Given the description of an element on the screen output the (x, y) to click on. 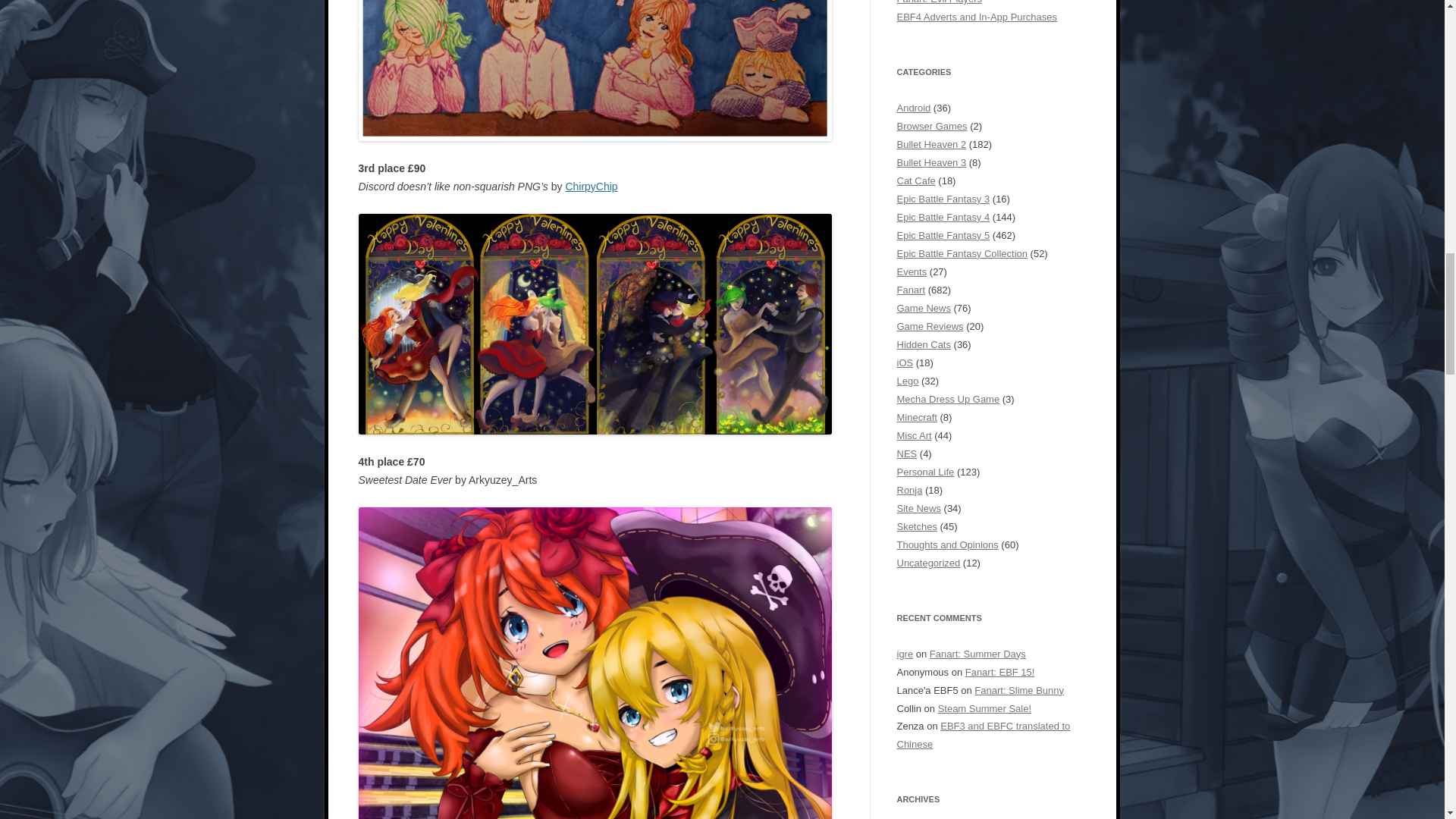
ChirpyChip (590, 186)
